Given the description of an element on the screen output the (x, y) to click on. 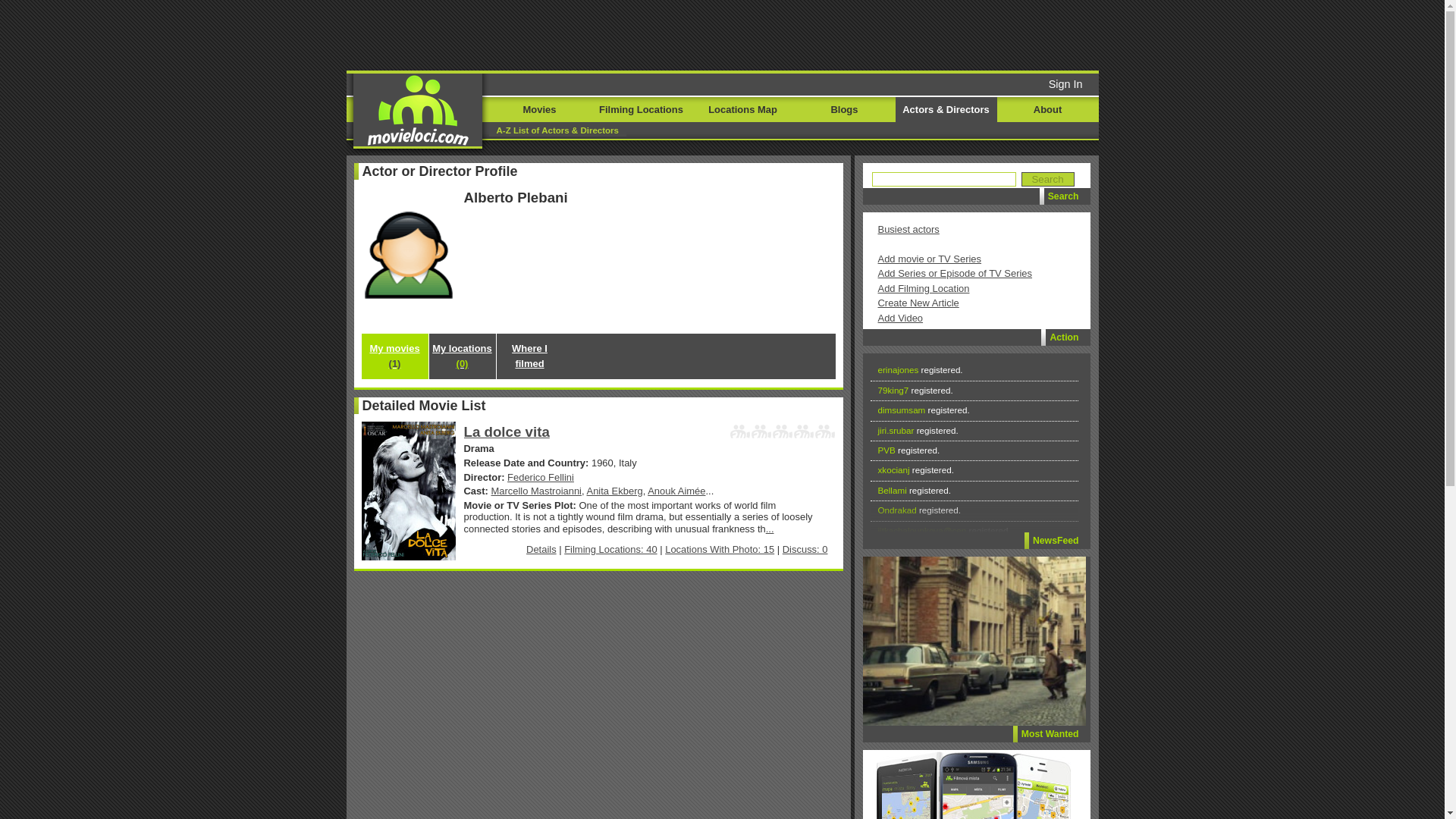
Sign In (995, 123)
Movies (538, 109)
Blogs (844, 109)
Locations Map (742, 109)
Sign In (1065, 83)
Filming Locations (640, 109)
Search (1047, 178)
About (1046, 109)
Advertisement (710, 33)
Search (1047, 178)
